Given the description of an element on the screen output the (x, y) to click on. 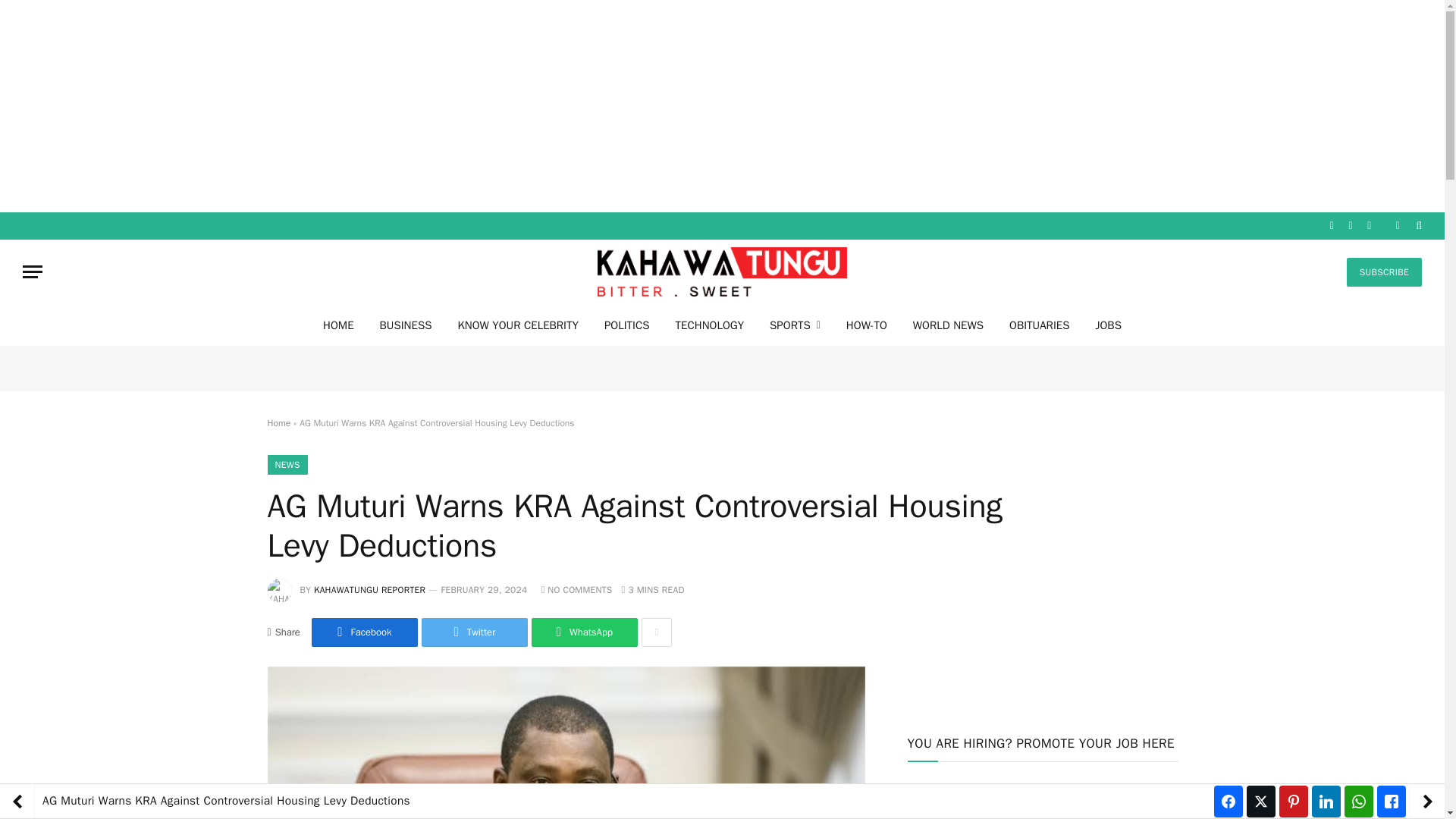
Share on Facebook (364, 632)
Home (277, 422)
BUSINESS (405, 324)
HOME (338, 324)
KahawaTungu (721, 271)
Twitter (474, 632)
NO COMMENTS (575, 589)
SPORTS (794, 324)
Switch to Dark Design - easier on eyes. (1397, 225)
TECHNOLOGY (709, 324)
